Given the description of an element on the screen output the (x, y) to click on. 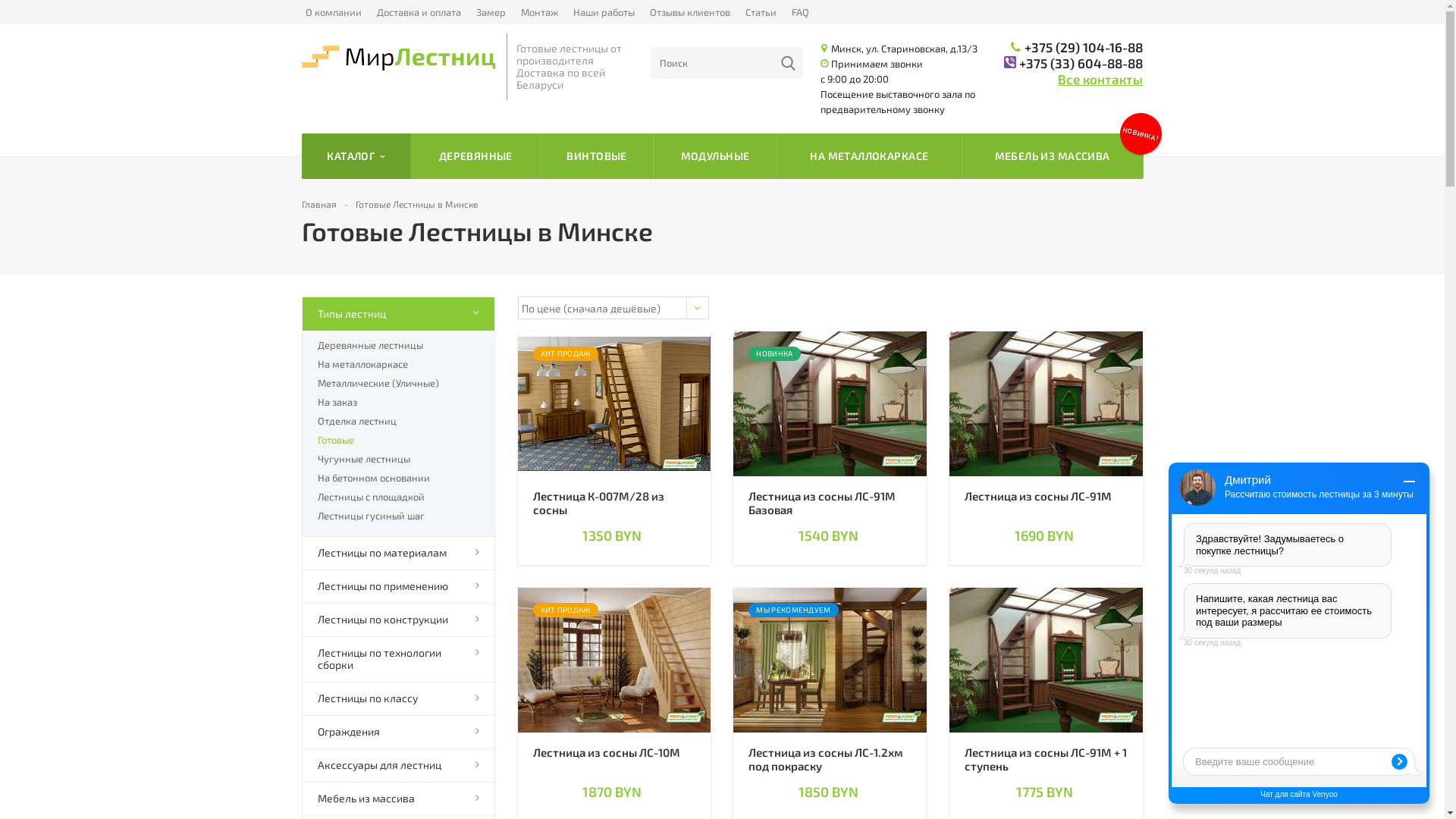
FAQ Element type: text (800, 12)
+375 (29) 104-16-88 Element type: text (1083, 46)
+375 (33) 604-88-88 Element type: text (1080, 62)
